Given the description of an element on the screen output the (x, y) to click on. 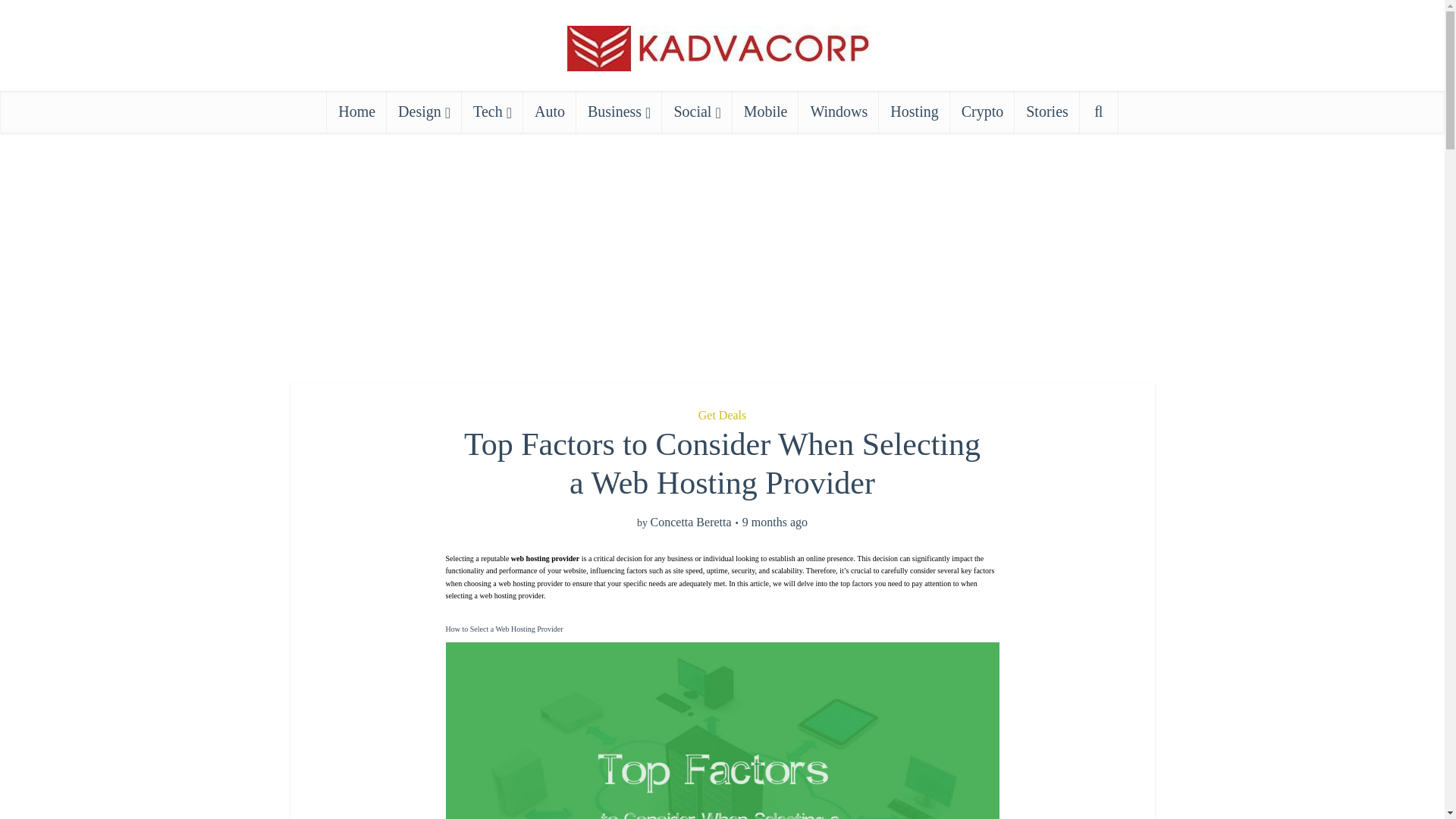
Design (424, 111)
Tech (491, 111)
Hosting (914, 111)
Social (697, 111)
Get Deals (722, 414)
Mobile (765, 111)
Crypto (982, 111)
Stories (1047, 111)
Home (356, 111)
Windows (838, 111)
Business (619, 111)
Auto (549, 111)
Concetta Beretta (691, 522)
